Given the description of an element on the screen output the (x, y) to click on. 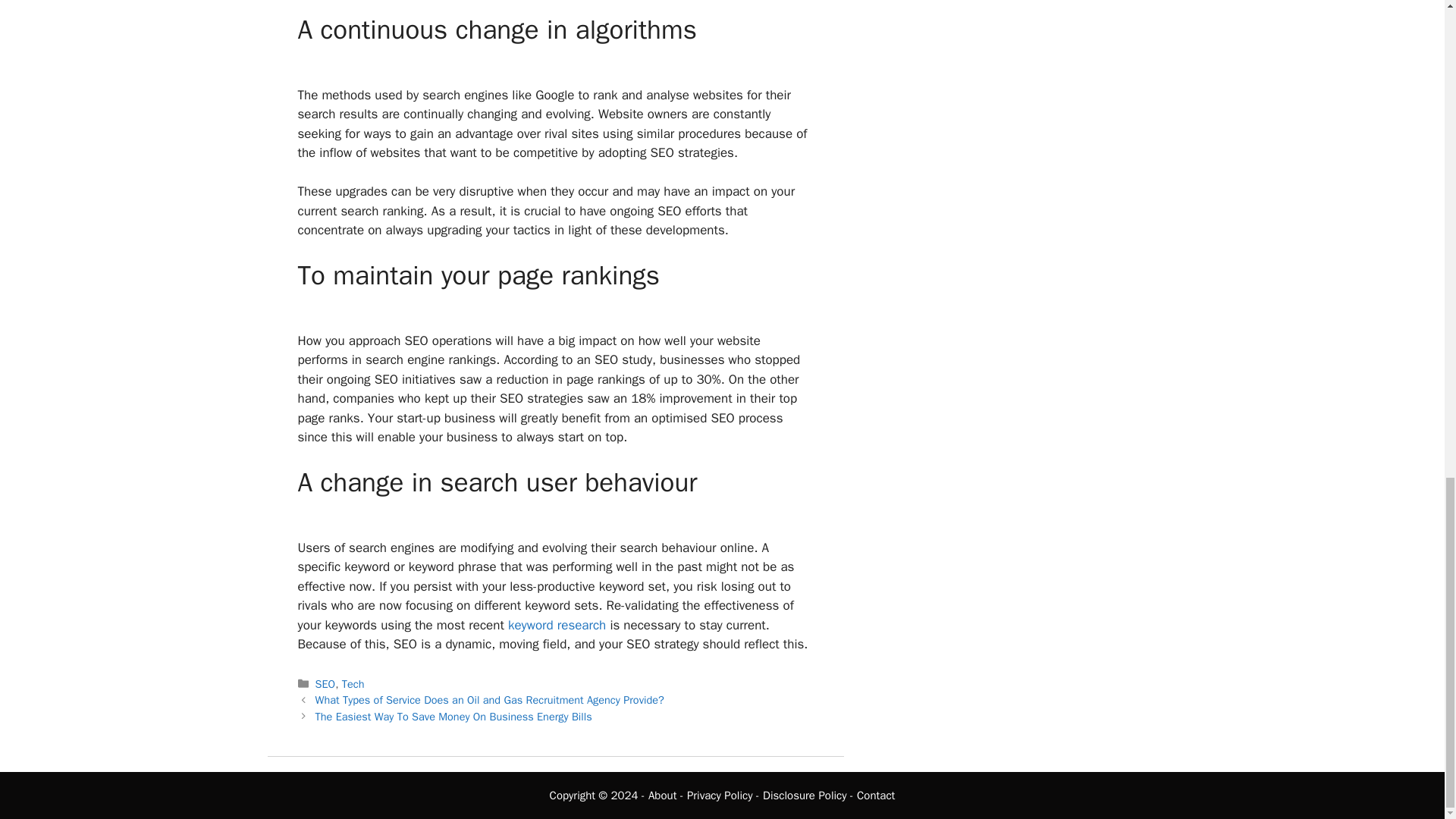
Next (453, 716)
Previous (489, 699)
